Given the description of an element on the screen output the (x, y) to click on. 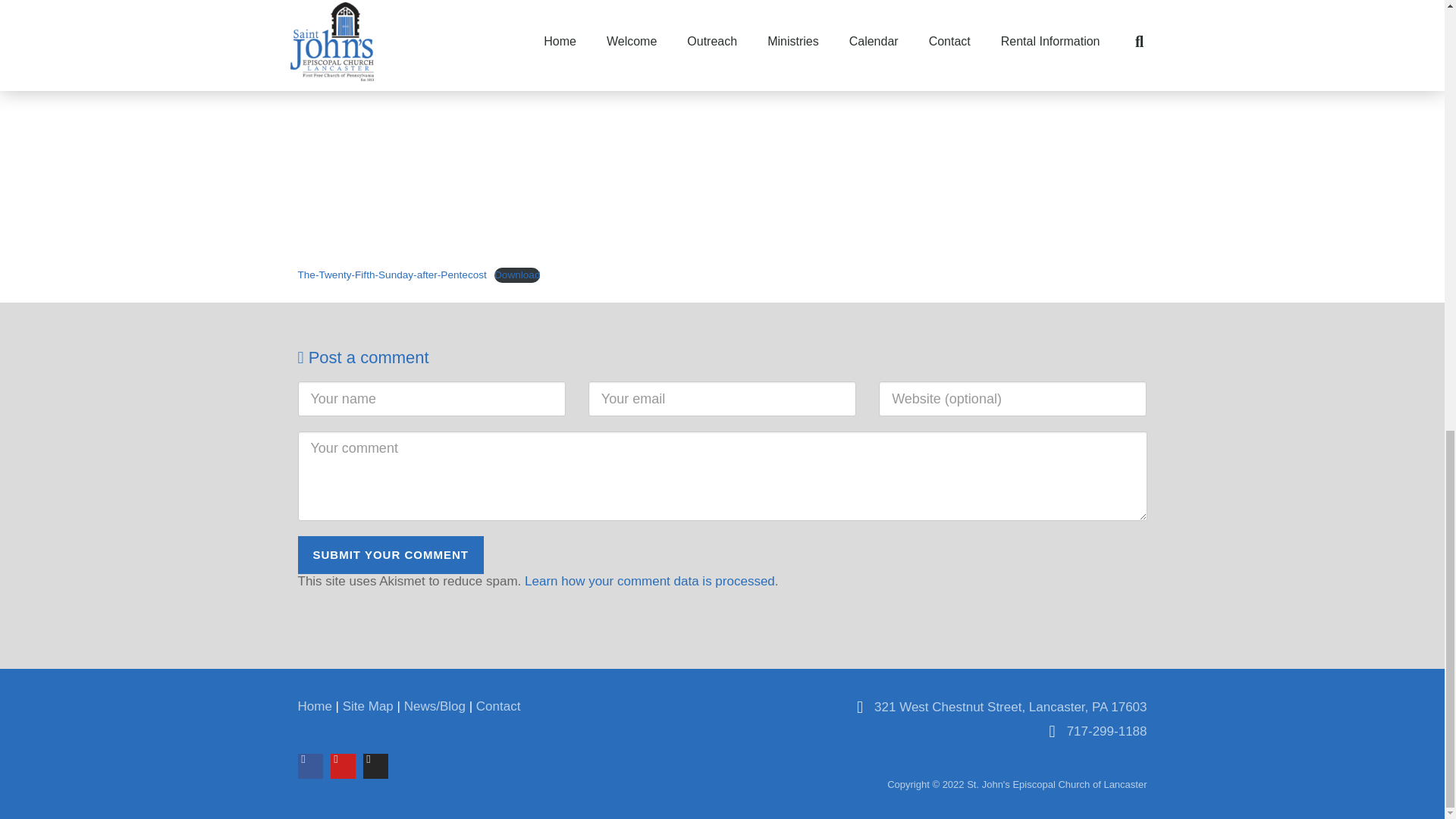
Submit your comment (390, 555)
Site Map (367, 706)
Download (517, 274)
Learn how your comment data is processed (649, 581)
The-Twenty-Fifth-Sunday-after-Pentecost (391, 274)
Home (314, 706)
Submit your comment (390, 555)
